Given the description of an element on the screen output the (x, y) to click on. 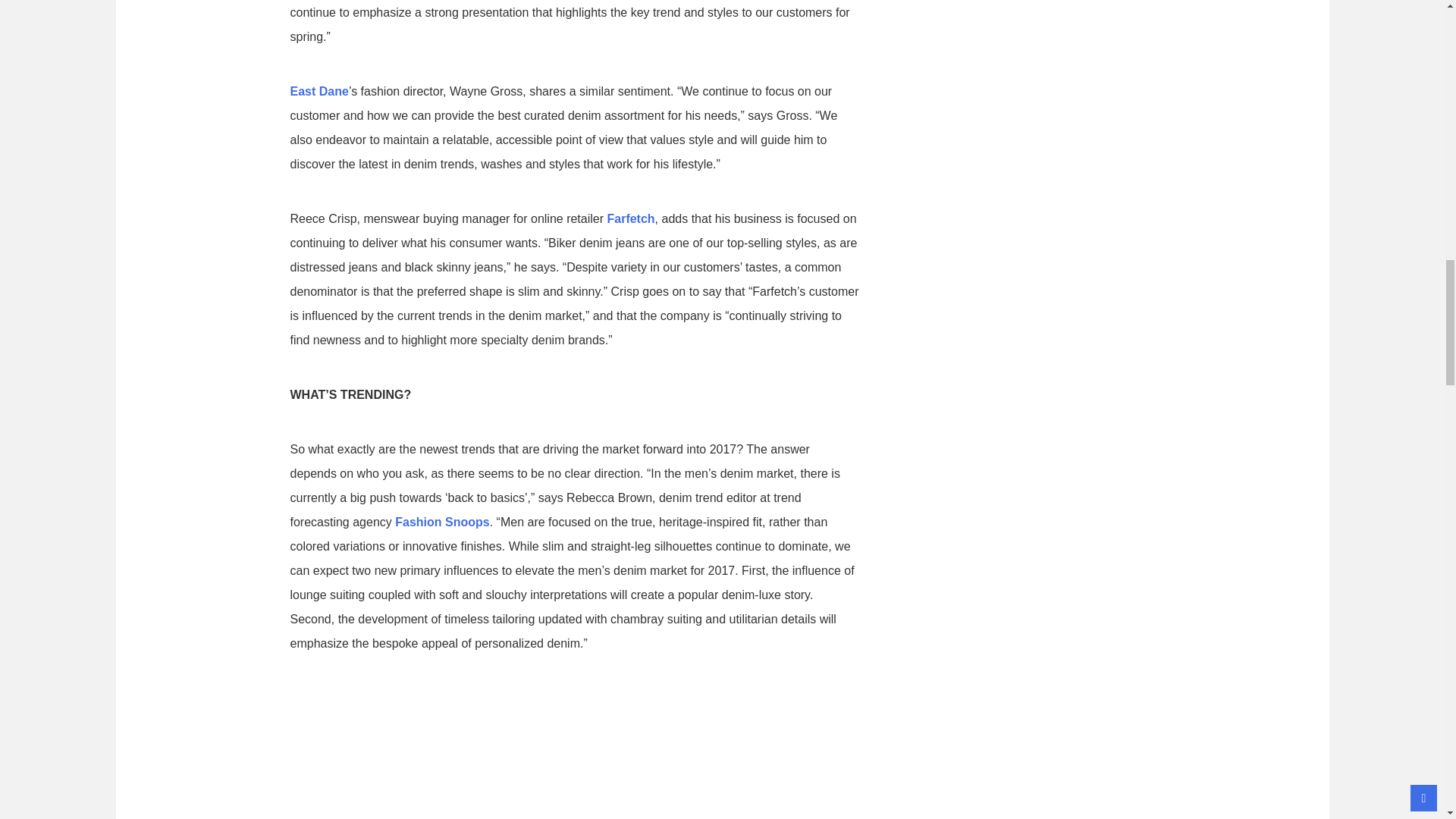
East Dane (318, 91)
